Given the description of an element on the screen output the (x, y) to click on. 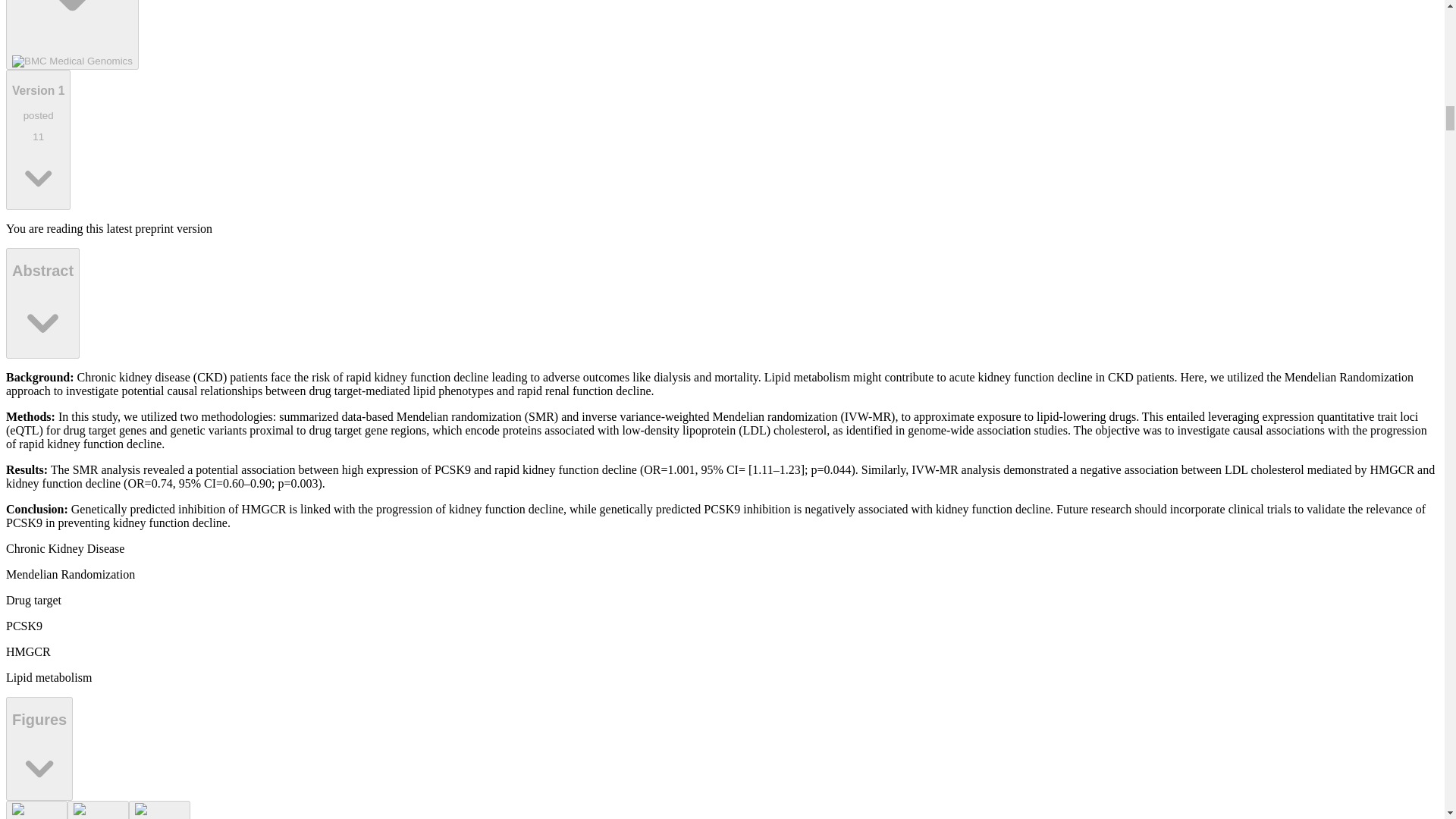
Figure 2 (97, 809)
Figure 1 (35, 809)
Figure 3 (71, 34)
